Given the description of an element on the screen output the (x, y) to click on. 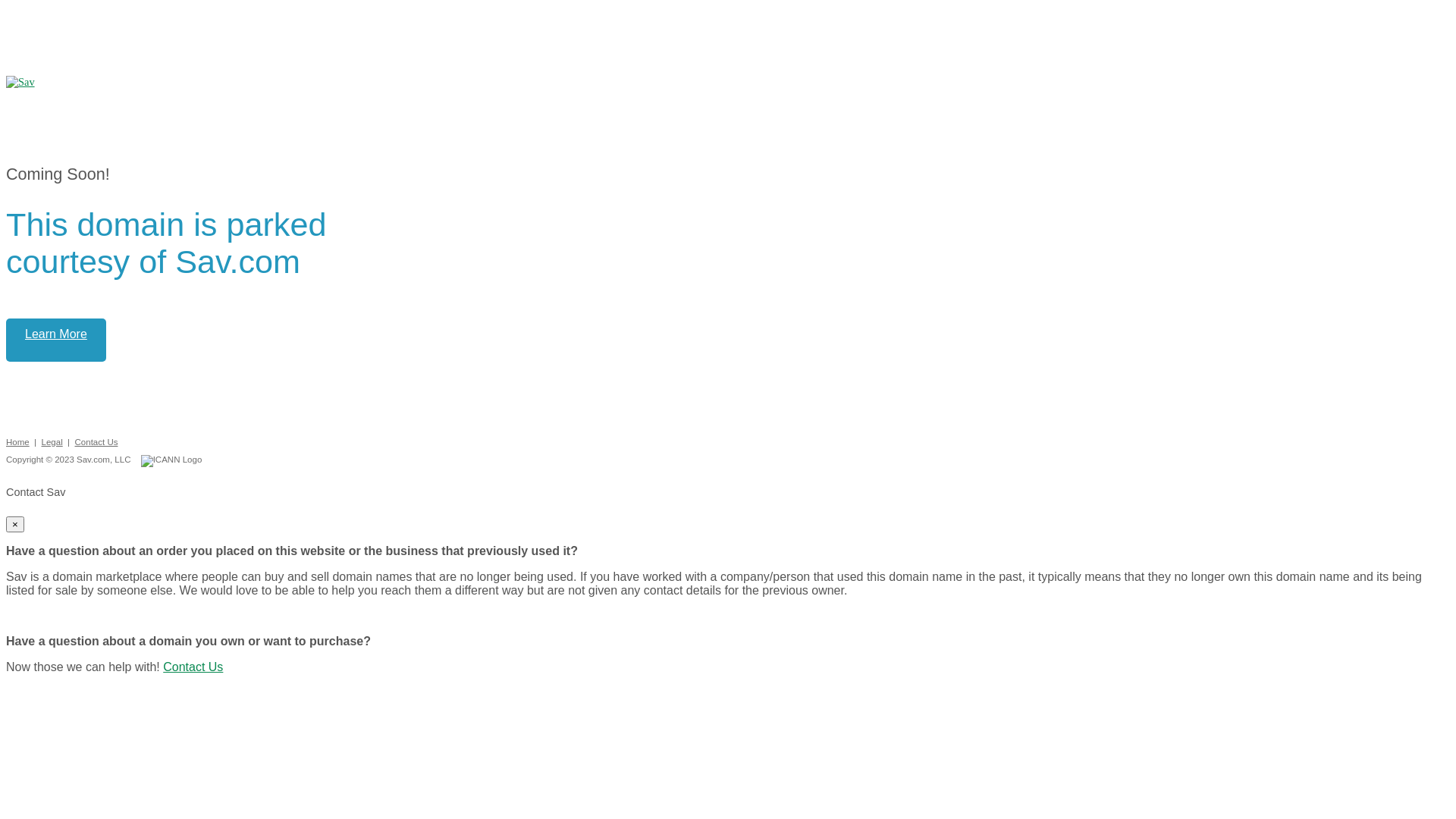
Contact Us Element type: text (95, 441)
Learn More Element type: text (56, 339)
Home Element type: text (17, 441)
Contact Us Element type: text (192, 666)
Legal Element type: text (51, 441)
